Given the description of an element on the screen output the (x, y) to click on. 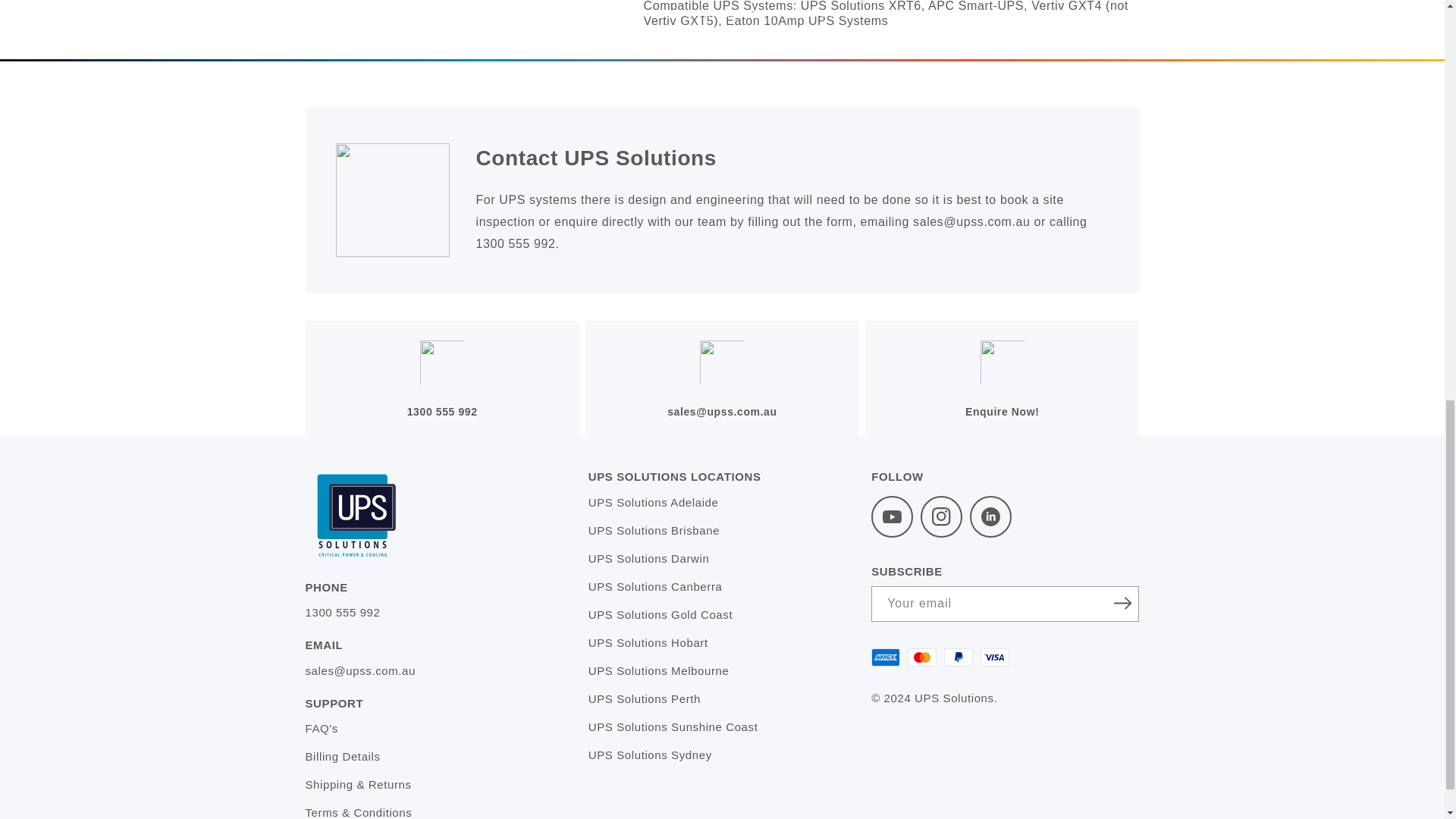
PayPal (957, 657)
Mastercard (921, 657)
American Express (884, 657)
